Given the description of an element on the screen output the (x, y) to click on. 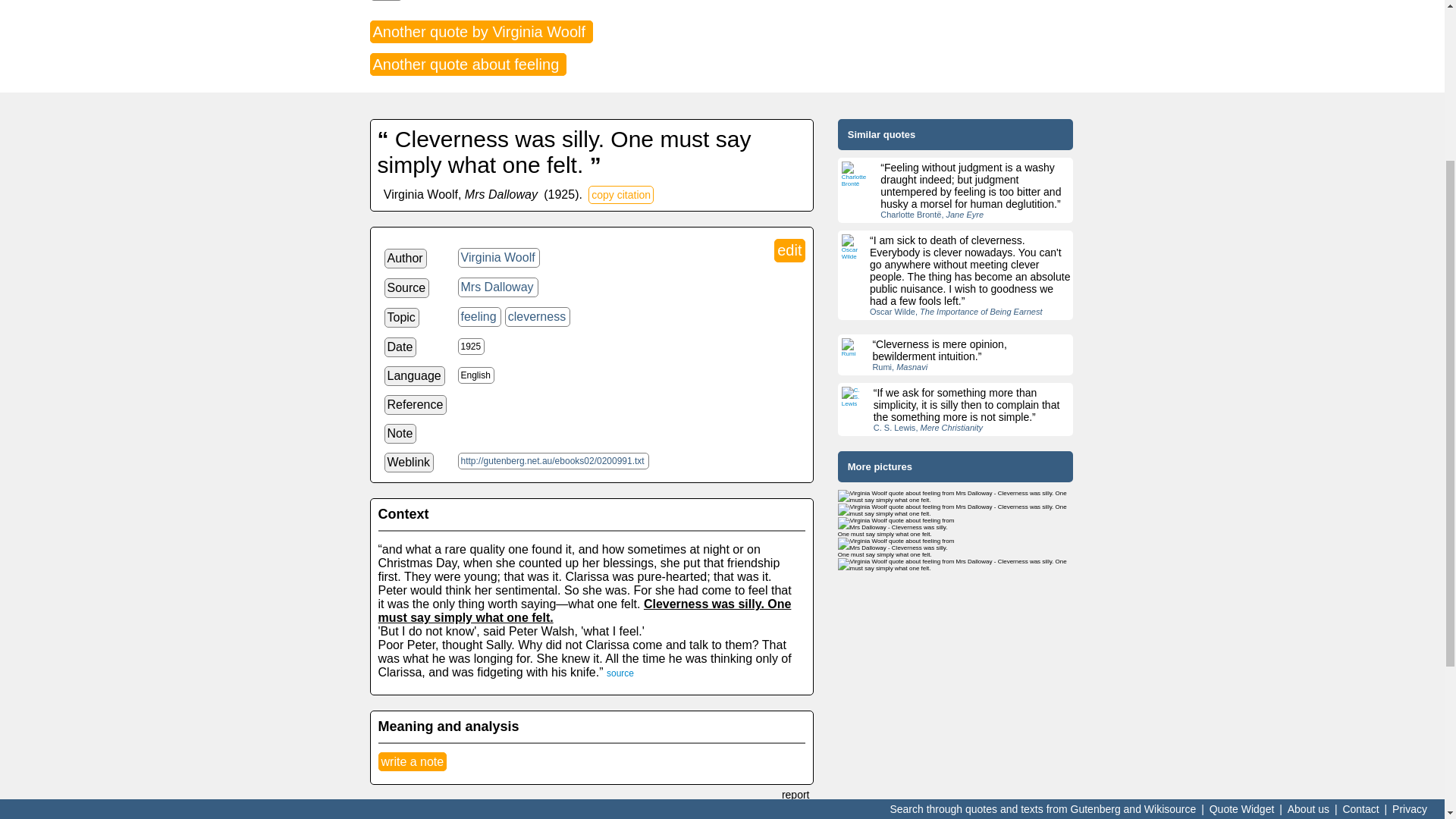
About us (1308, 566)
Mrs Dalloway (498, 287)
Quote Widget (1241, 566)
Another quote by Virginia Woolf  (480, 31)
feeling (479, 316)
source (620, 673)
Virginia Woolf quote about feeling from Mrs Dalloway (896, 526)
Virginia Woolf quote about feeling from Mrs Dalloway (955, 509)
write a note (411, 761)
cleverness (537, 316)
